Given the description of an element on the screen output the (x, y) to click on. 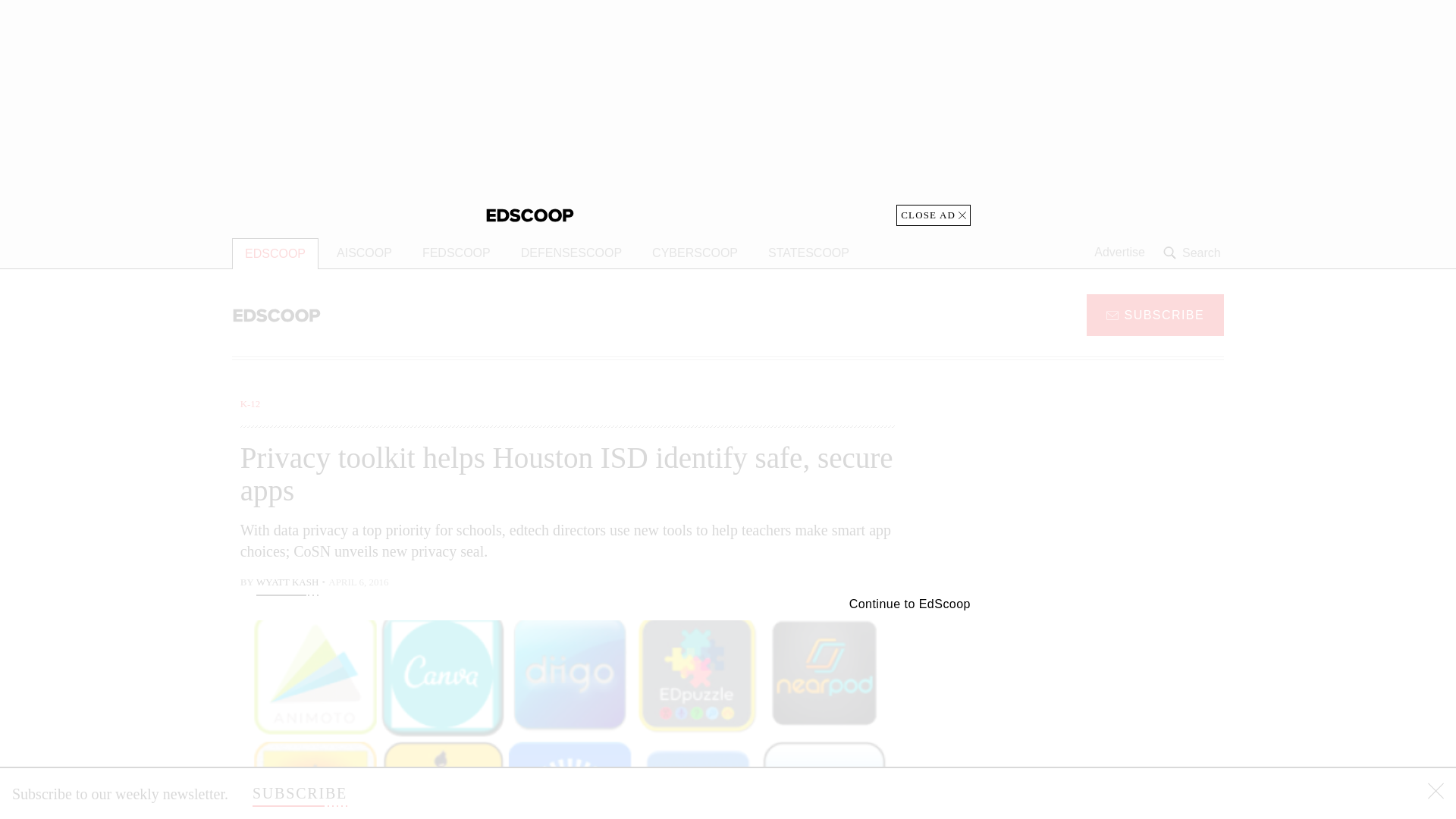
Wyatt Kash (287, 583)
SUBSCRIBE (299, 793)
3rd party ad content (727, 112)
STATESCOOP (808, 253)
3rd party ad content (1101, 491)
FEDSCOOP (456, 253)
CYBERSCOOP (694, 253)
Advertise (1119, 252)
3rd party ad content (1101, 705)
DEFENSESCOOP (570, 253)
AISCOOP (364, 253)
SUBSCRIBE (1155, 314)
Search (1193, 252)
